Given the description of an element on the screen output the (x, y) to click on. 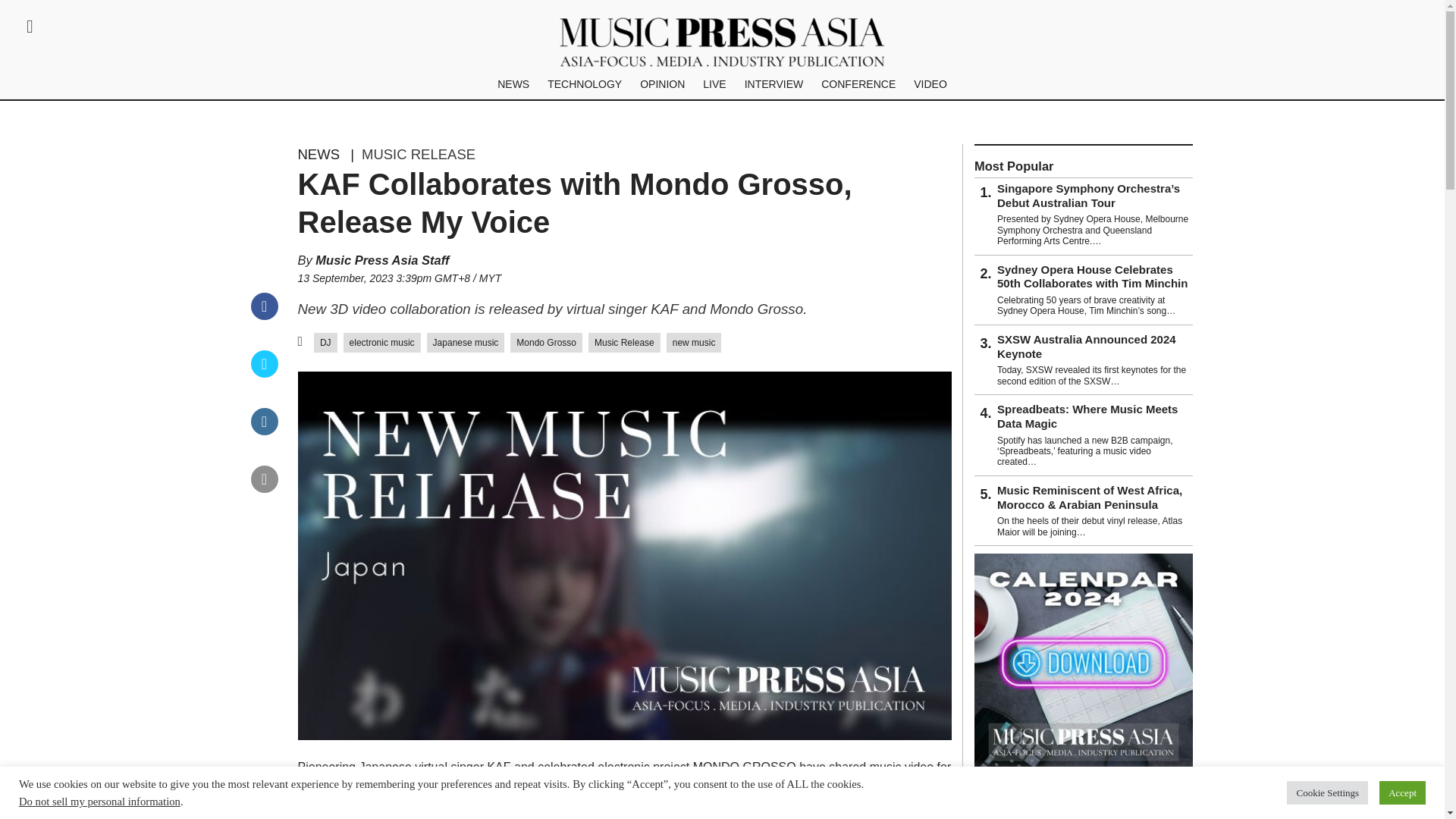
Japanese music (465, 342)
INTERVIEW (773, 83)
new music (694, 342)
VIDEO (930, 83)
Share on Twitter (264, 372)
View all posts tagged Japanese music (465, 342)
Share on Facebook (264, 315)
NEWS (513, 83)
Music Release (624, 342)
Mondo Grosso (546, 342)
Share on LinkedIn (264, 430)
View all posts tagged Mondo Grosso (546, 342)
NEWS (318, 154)
electronic music (381, 342)
View all posts tagged new music (694, 342)
